Given the description of an element on the screen output the (x, y) to click on. 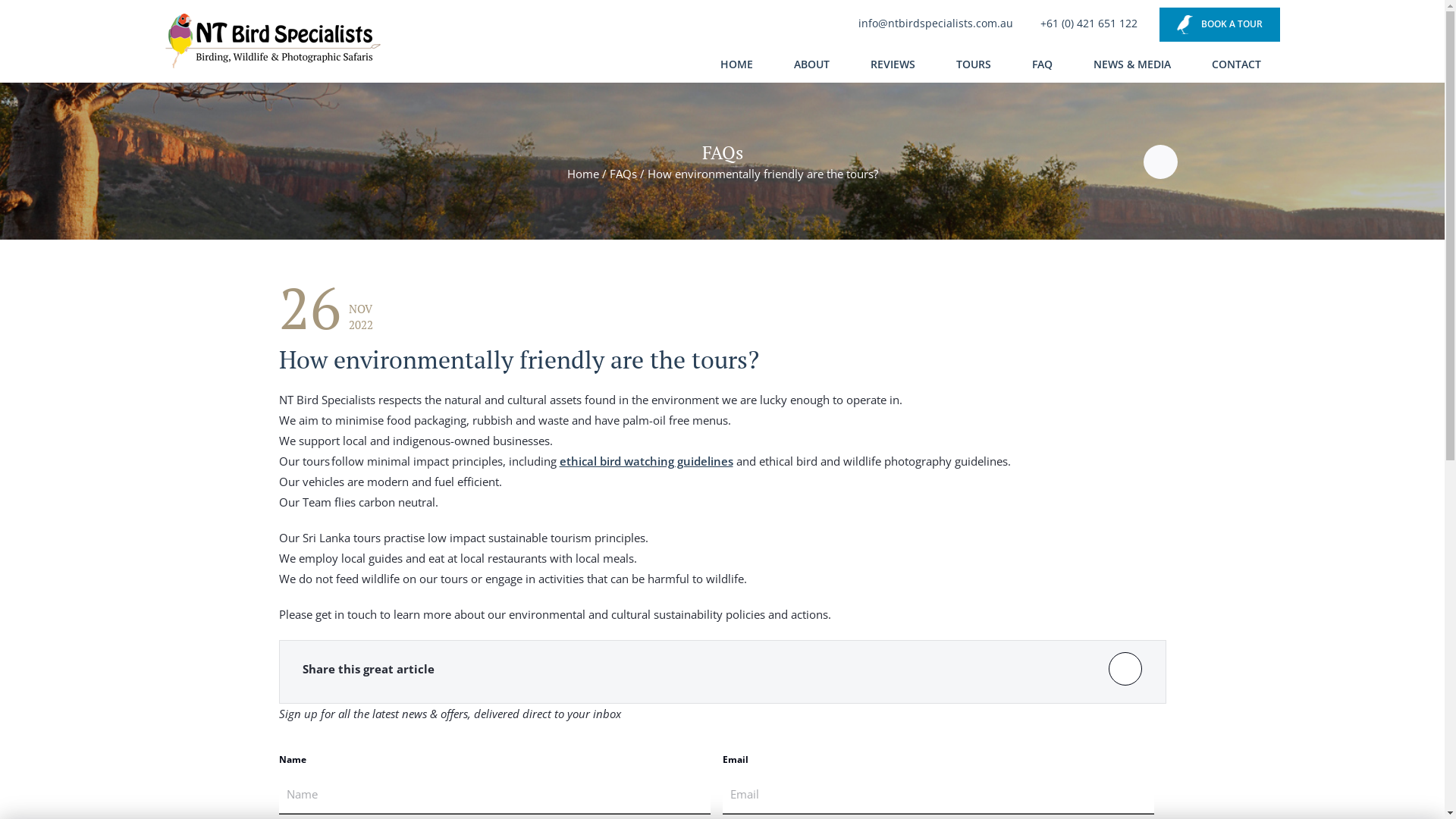
ABOUT Element type: text (810, 66)
FAQ Element type: text (1041, 66)
TOURS Element type: text (972, 66)
HOME Element type: text (736, 66)
info@ntbirdspecialists.com.au Element type: text (933, 22)
REVIEWS Element type: text (892, 66)
+61 (0) 421 651 122 Element type: text (1086, 22)
NEWS & MEDIA Element type: text (1131, 66)
BOOK A TOUR Element type: text (1219, 24)
ethical bird watching guidelines Element type: text (646, 460)
CONTACT Element type: text (1236, 66)
Search Element type: text (1108, 27)
Home Element type: text (583, 173)
